Given the description of an element on the screen output the (x, y) to click on. 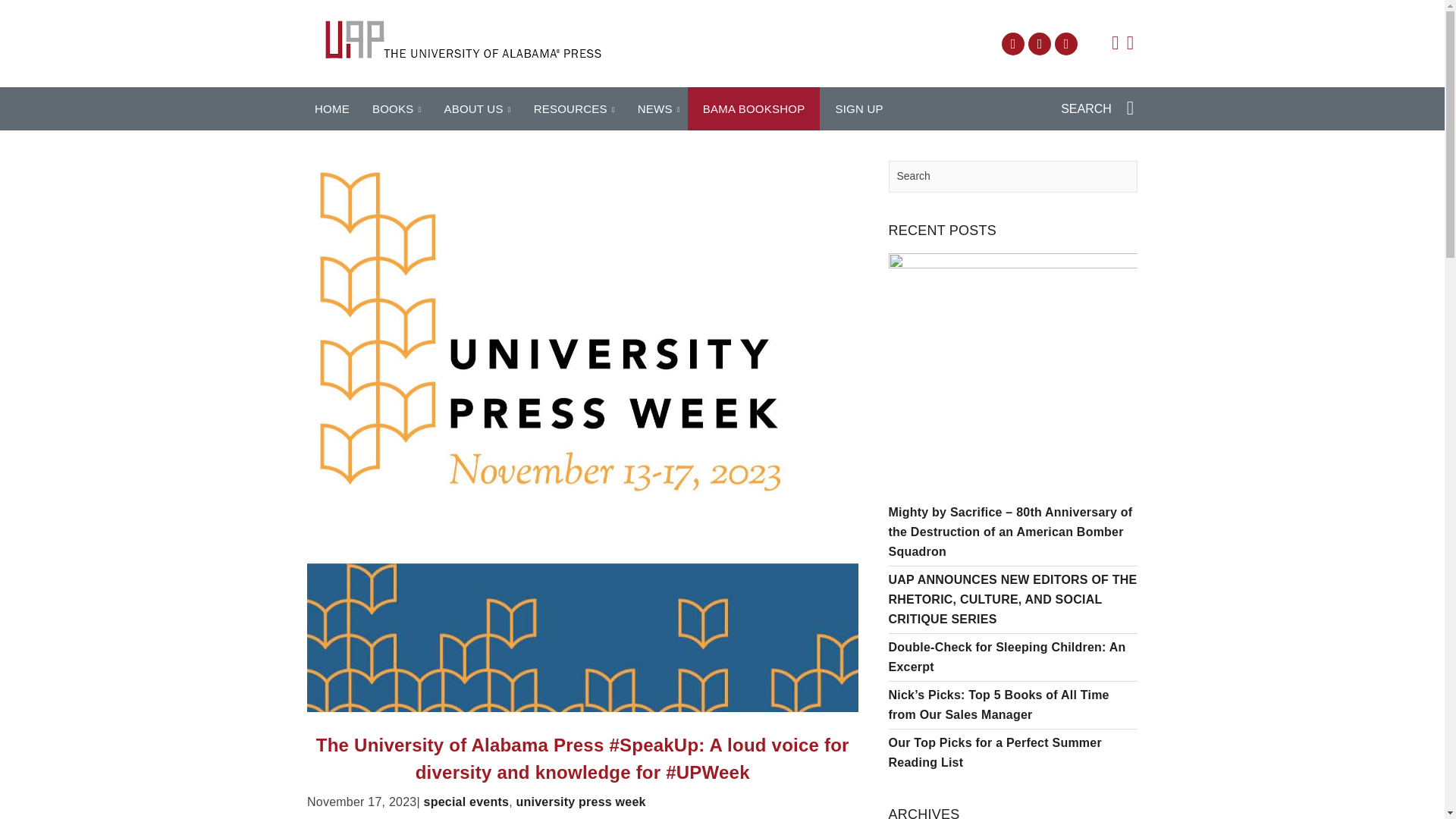
Follow us on Facebook (1013, 43)
Search (1013, 176)
RESOURCES (570, 108)
Follow us on Instagram (1065, 43)
BOOKS (392, 108)
ABOUT US (473, 108)
Search (1013, 176)
HOME (331, 108)
